Given the description of an element on the screen output the (x, y) to click on. 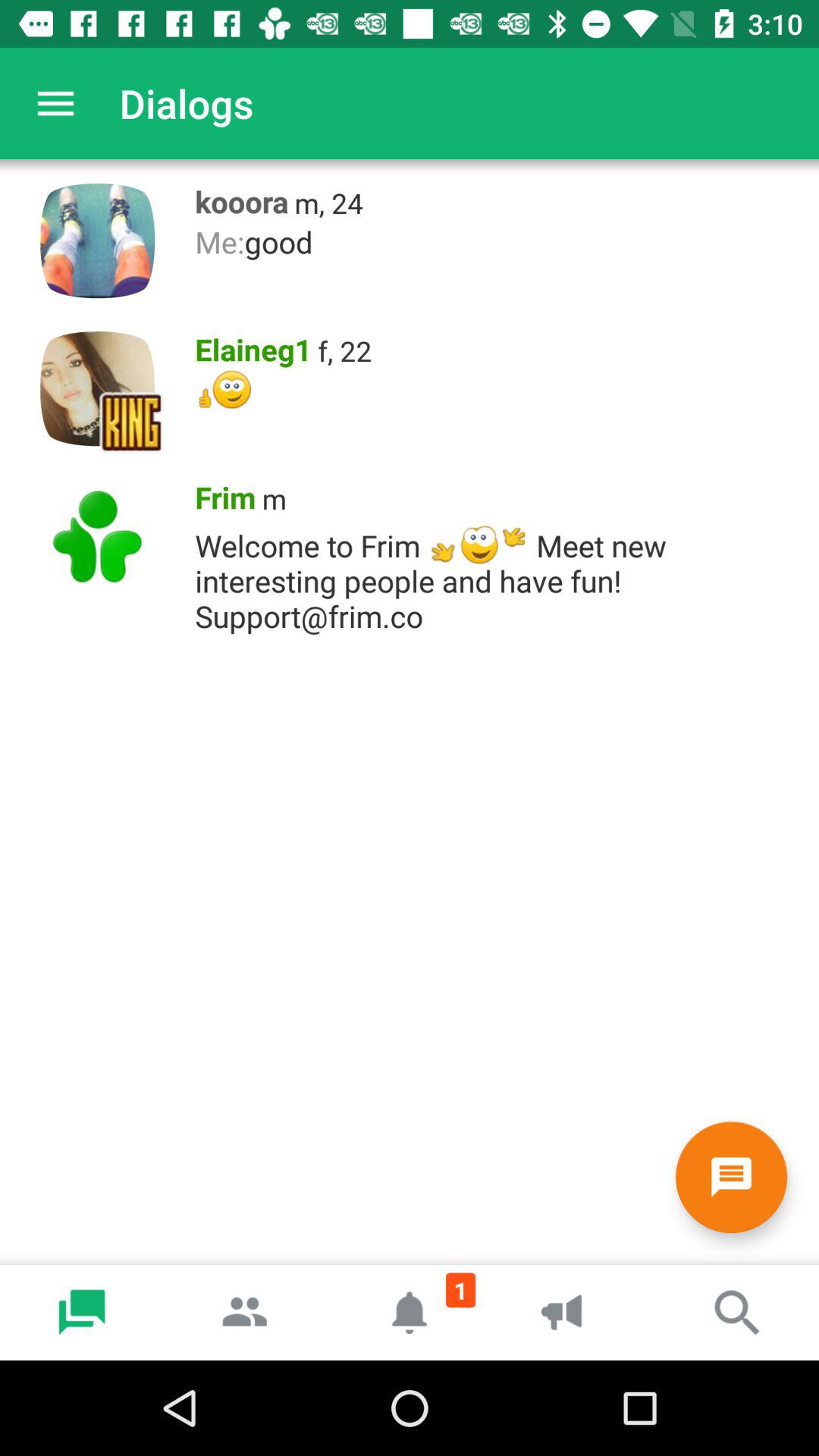
message (731, 1177)
